Given the description of an element on the screen output the (x, y) to click on. 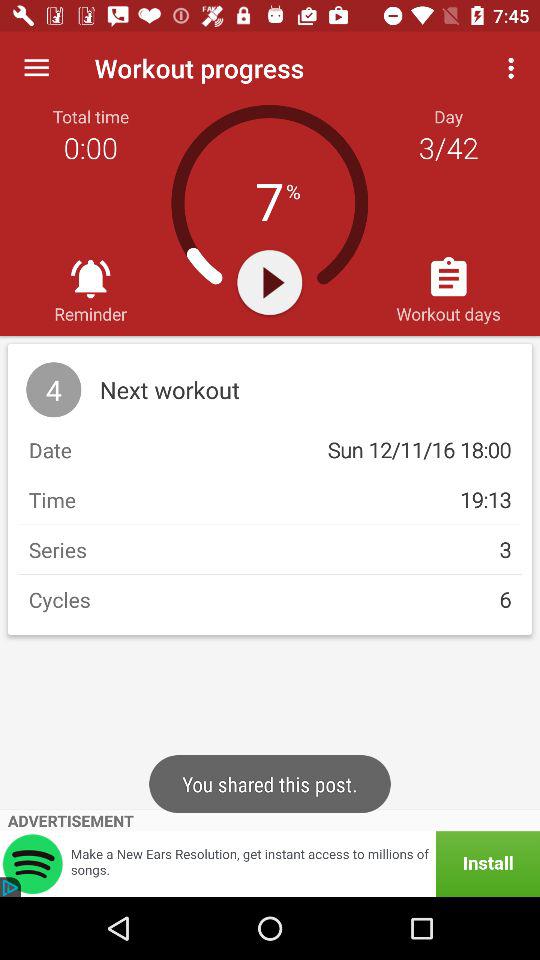
tap the item next to workout progress (36, 68)
